Given the description of an element on the screen output the (x, y) to click on. 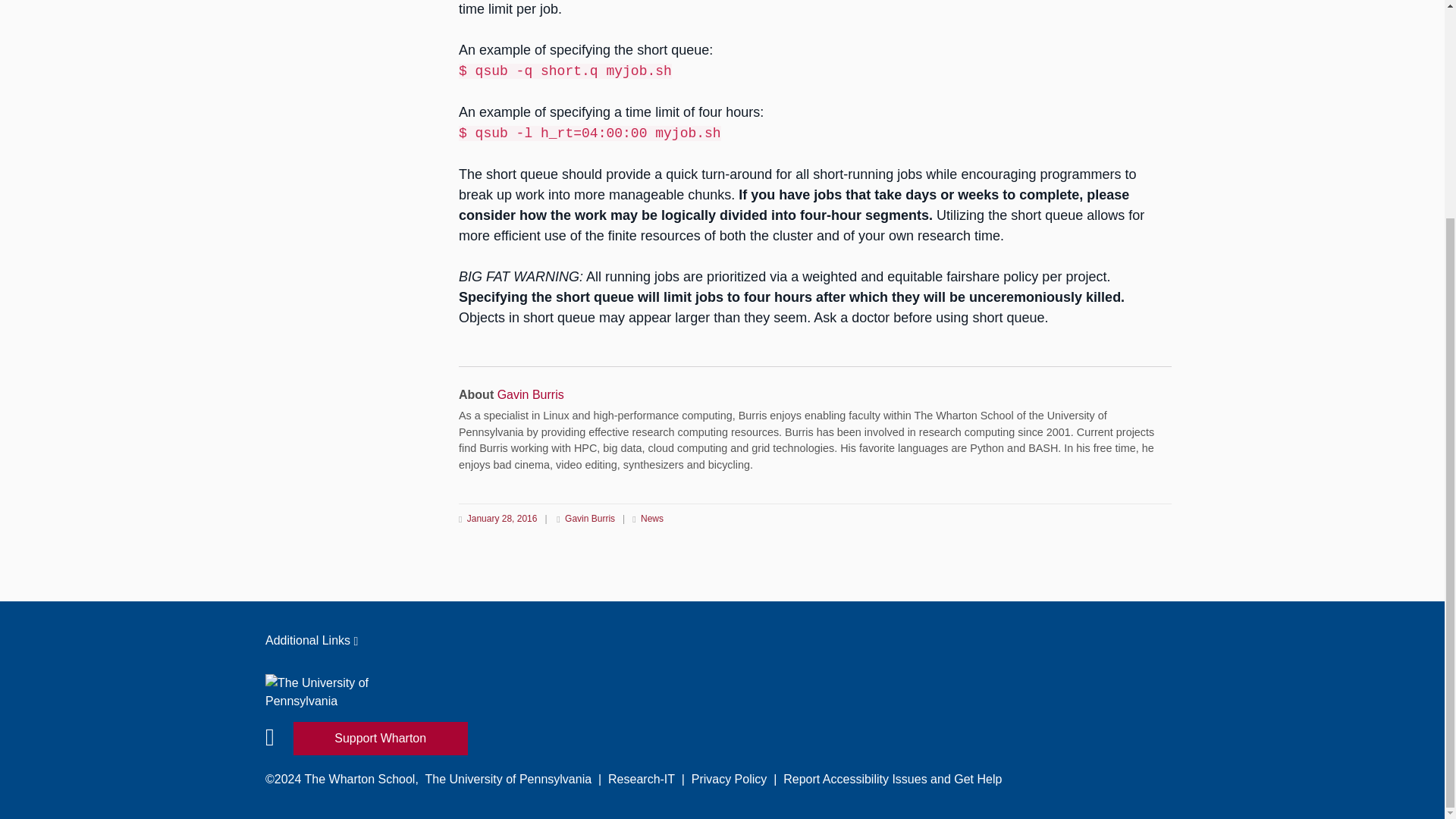
Research-IT (641, 779)
12:19 pm (501, 518)
Give to Wharton (380, 738)
Additional Links (721, 640)
Posts by Gavin Burris (530, 394)
View all posts by Gavin Burris (590, 518)
